Given the description of an element on the screen output the (x, y) to click on. 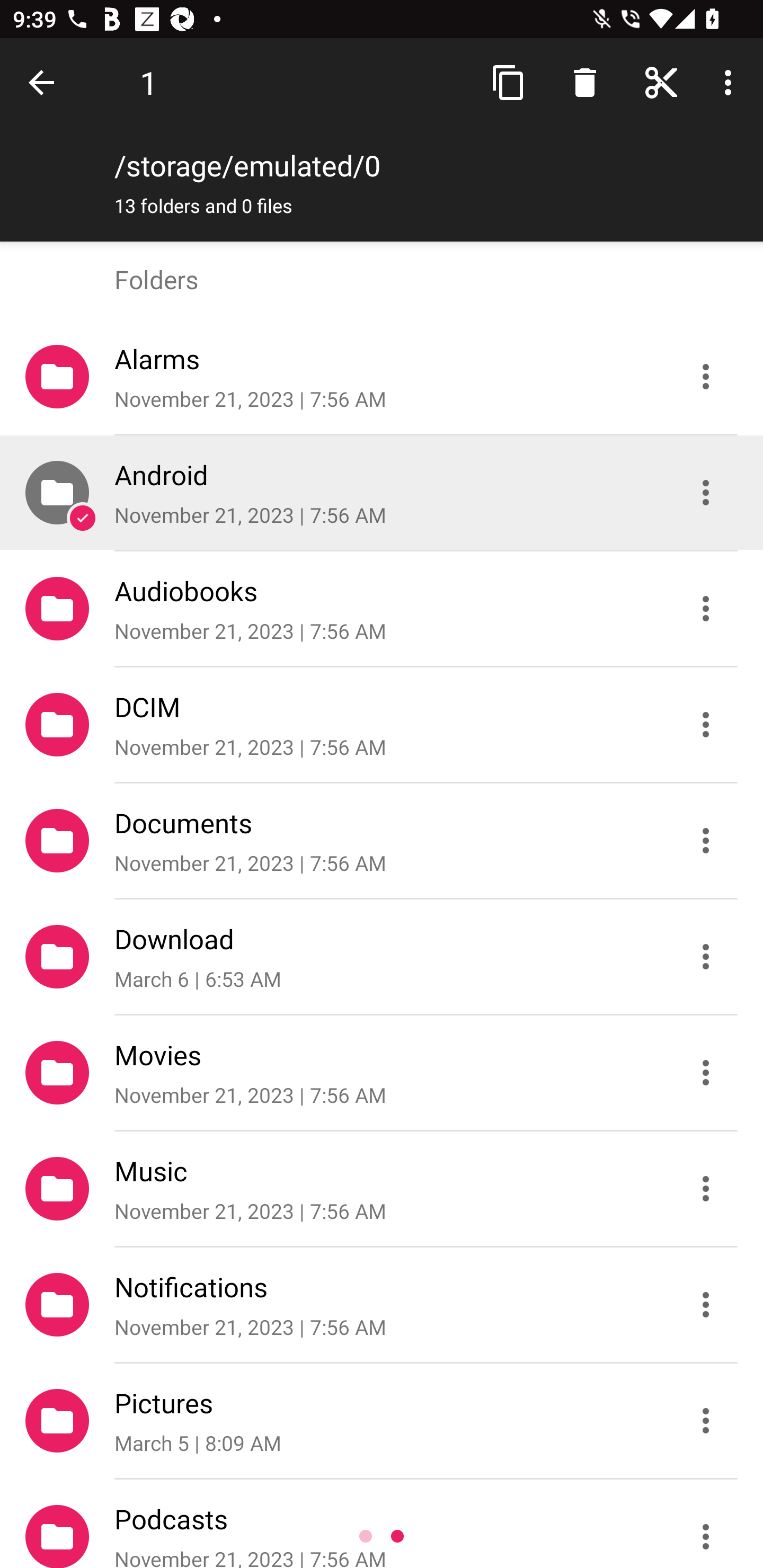
1 (148, 82)
Done (44, 81)
Copy (508, 81)
Search (585, 81)
Home (661, 81)
More options (731, 81)
Alarms November 21, 2023 | 7:56 AM (381, 376)
Android November 21, 2023 | 7:56 AM (381, 492)
Audiobooks November 21, 2023 | 7:56 AM (381, 608)
DCIM November 21, 2023 | 7:56 AM (381, 724)
Documents November 21, 2023 | 7:56 AM (381, 841)
Download March 6 | 6:53 AM (381, 957)
Movies November 21, 2023 | 7:56 AM (381, 1073)
Music November 21, 2023 | 7:56 AM (381, 1189)
Notifications November 21, 2023 | 7:56 AM (381, 1305)
Pictures March 5 | 8:09 AM (381, 1421)
Podcasts November 21, 2023 | 7:56 AM (381, 1524)
